Given the description of an element on the screen output the (x, y) to click on. 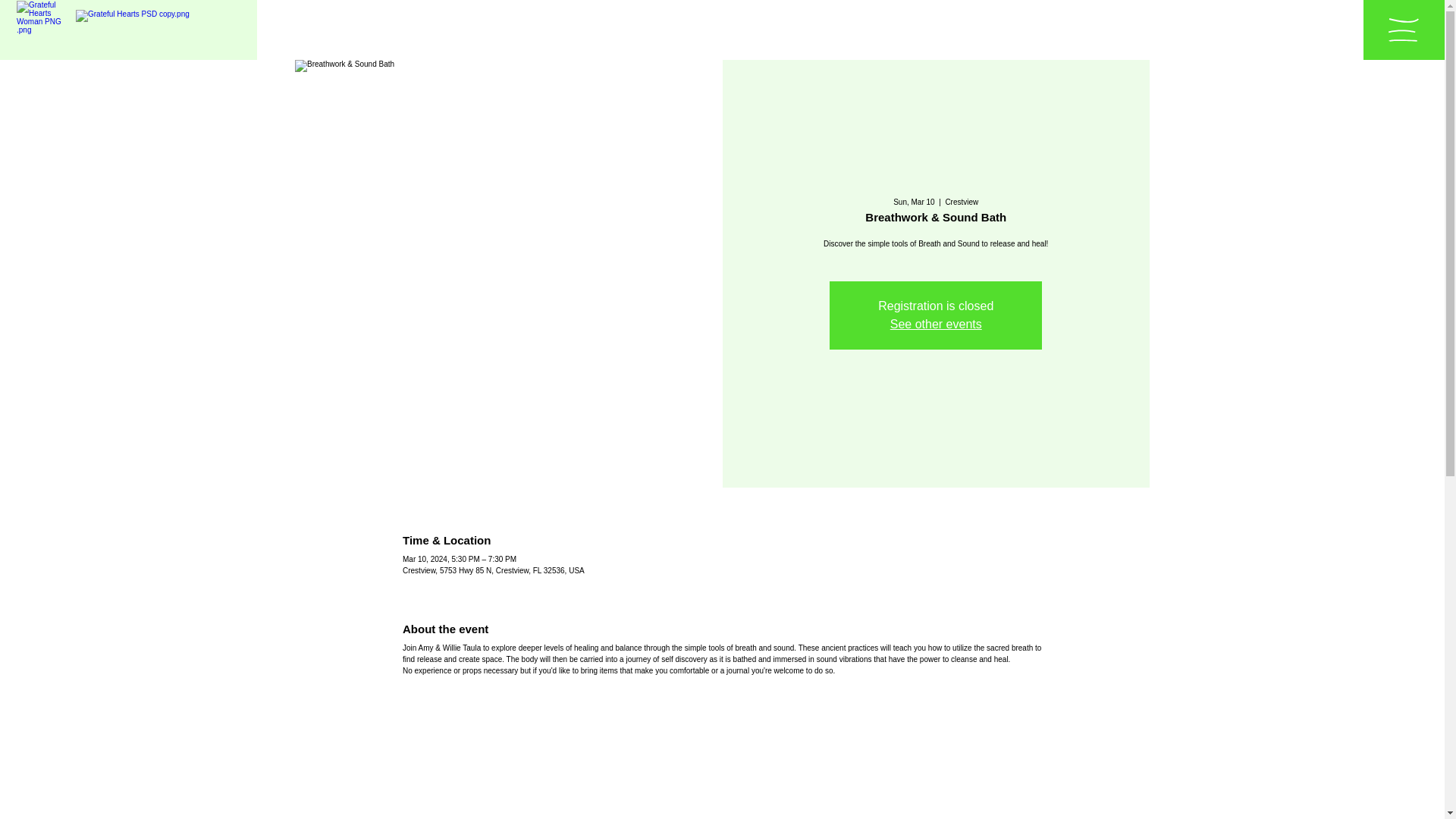
See other events (935, 323)
